Given the description of an element on the screen output the (x, y) to click on. 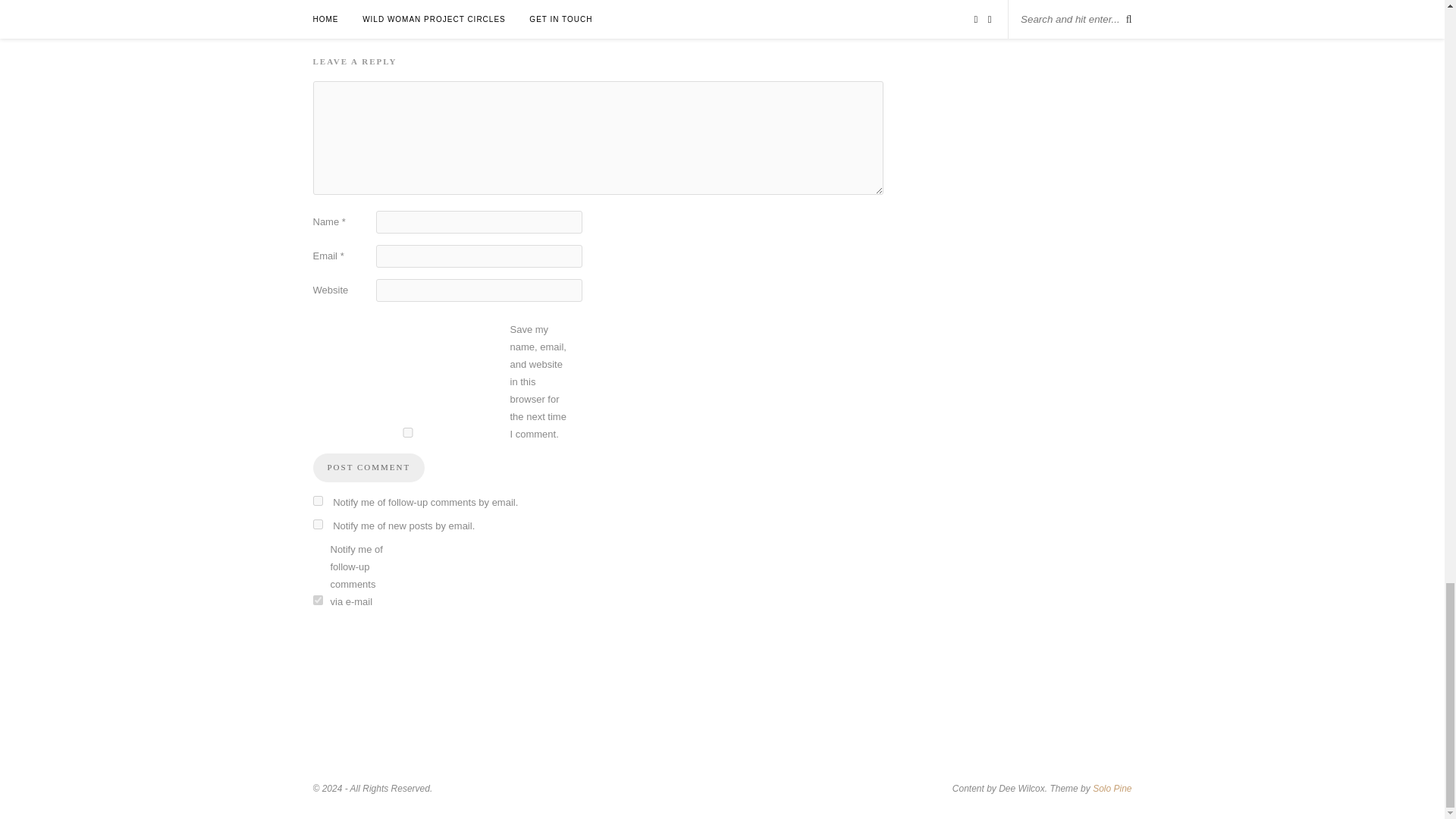
Post Comment (369, 467)
Post Comment (369, 467)
yes (407, 432)
subscribe (317, 501)
subscribe (317, 524)
Solo Pine (1112, 787)
